Given the description of an element on the screen output the (x, y) to click on. 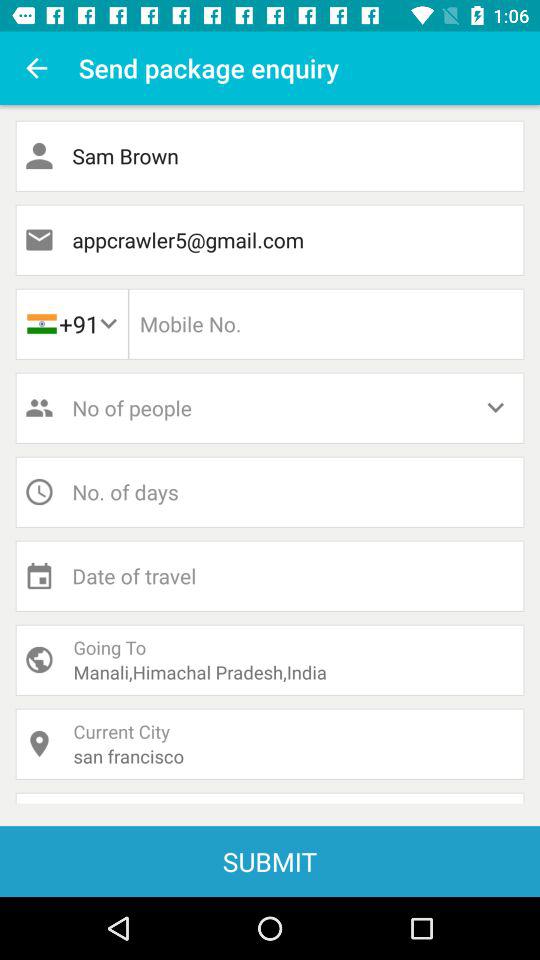
turn on the app above the no of people app (71, 323)
